Given the description of an element on the screen output the (x, y) to click on. 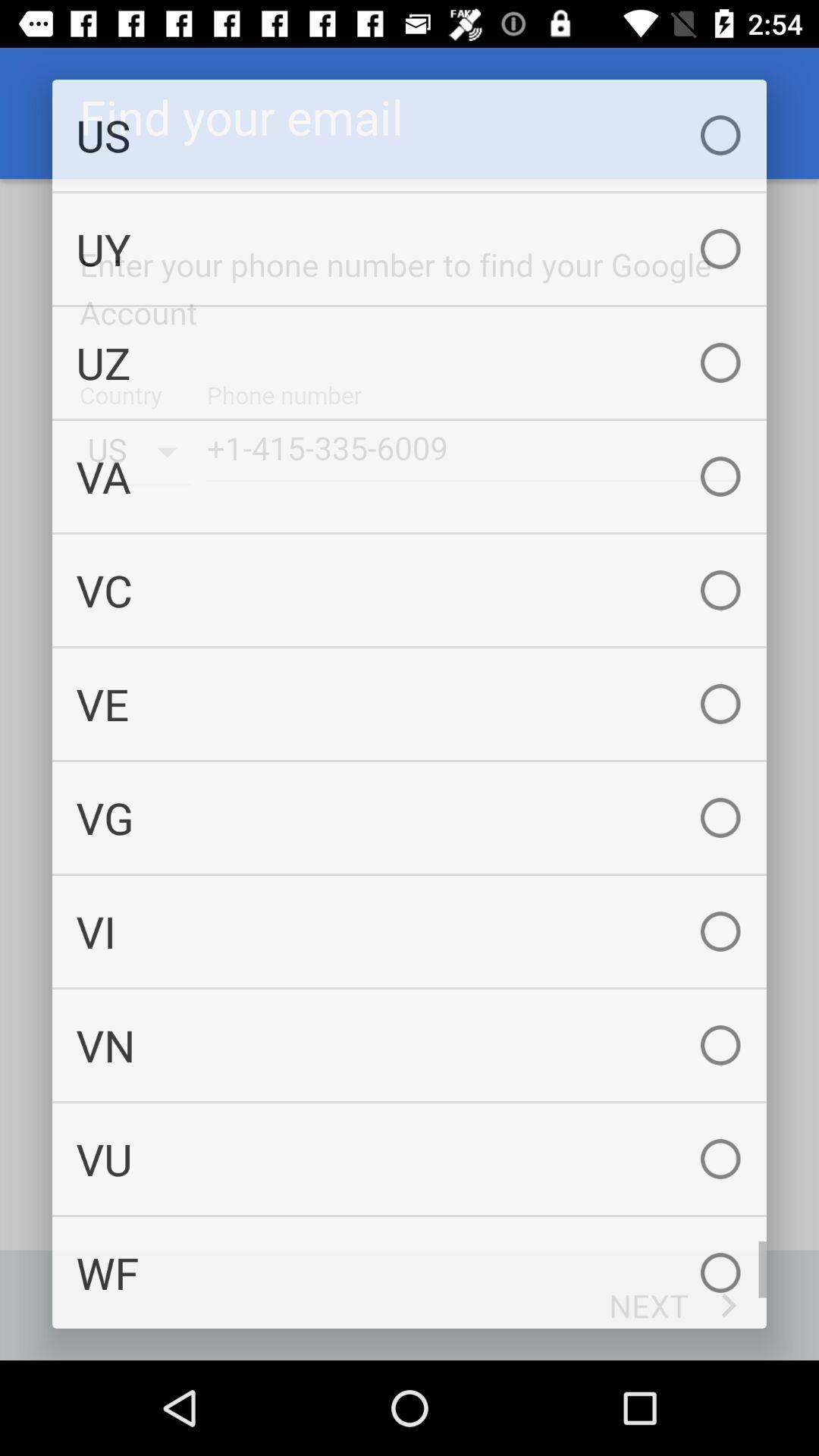
turn off the item below ve checkbox (409, 817)
